Given the description of an element on the screen output the (x, y) to click on. 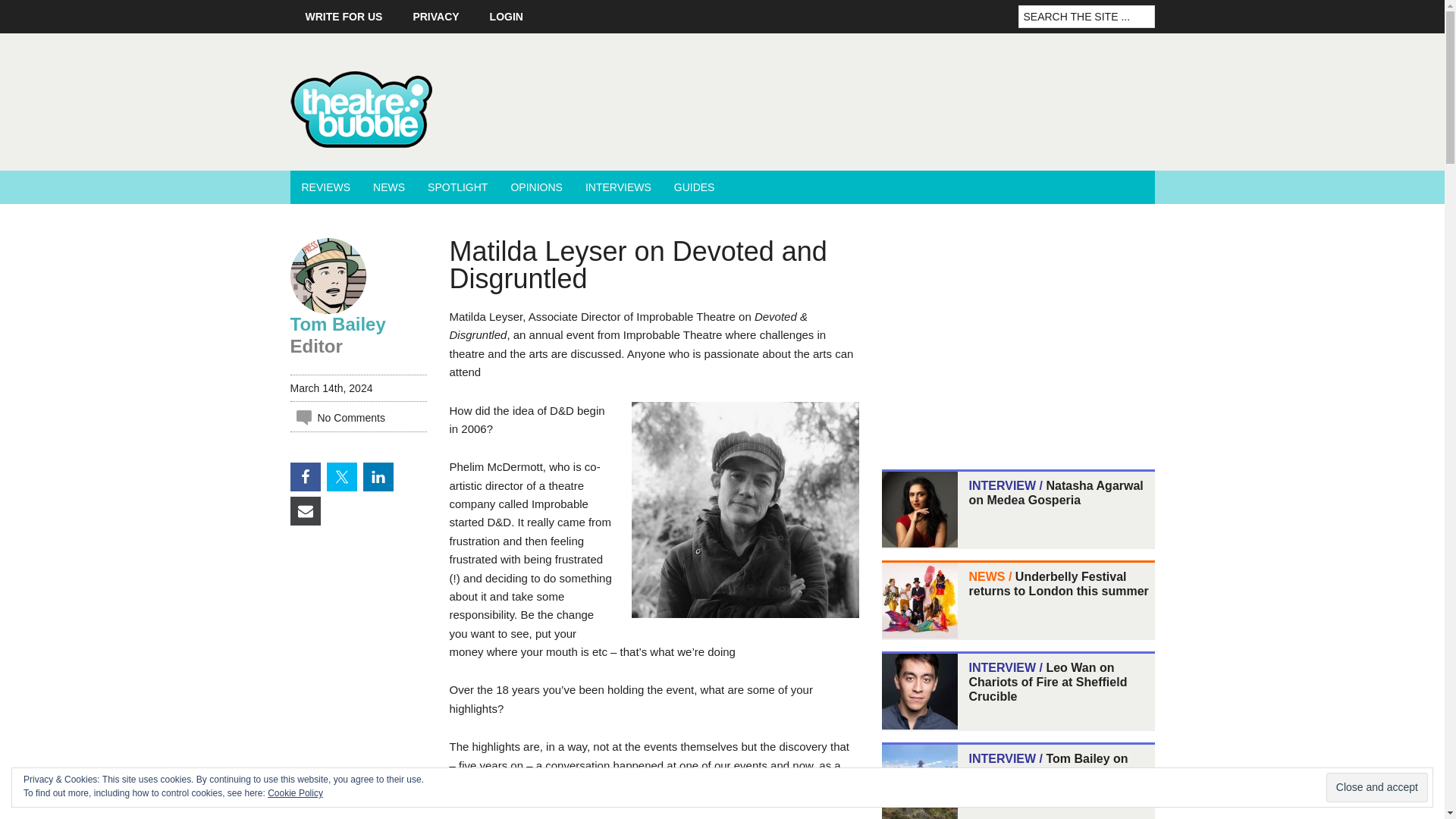
Share on Twitter (341, 476)
WRITE FOR US (343, 16)
Search (1158, 8)
Share via Email (304, 510)
NEWS (388, 186)
INTERVIEWS (617, 186)
Posts by Tom Bailey (337, 323)
LOGIN (506, 16)
Search (1158, 8)
Close and accept (1377, 787)
PRIVACY (435, 16)
Advertisement (994, 339)
OPINIONS (536, 186)
GUIDES (694, 186)
Share on Facebook (304, 476)
